Given the description of an element on the screen output the (x, y) to click on. 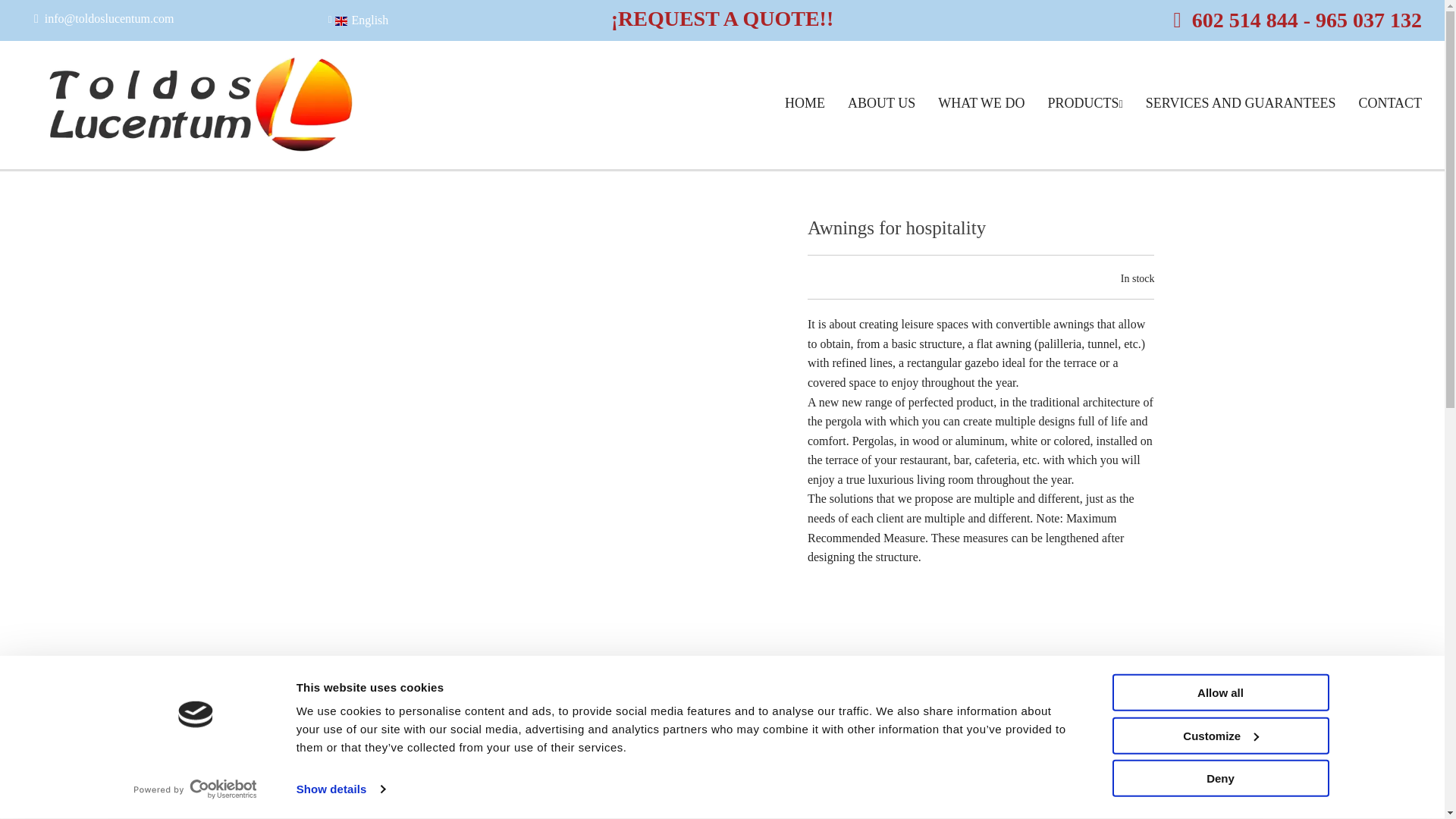
Deny (1219, 778)
Customize (1219, 734)
Allow all (1219, 692)
Show details (340, 789)
English (358, 19)
